Given the description of an element on the screen output the (x, y) to click on. 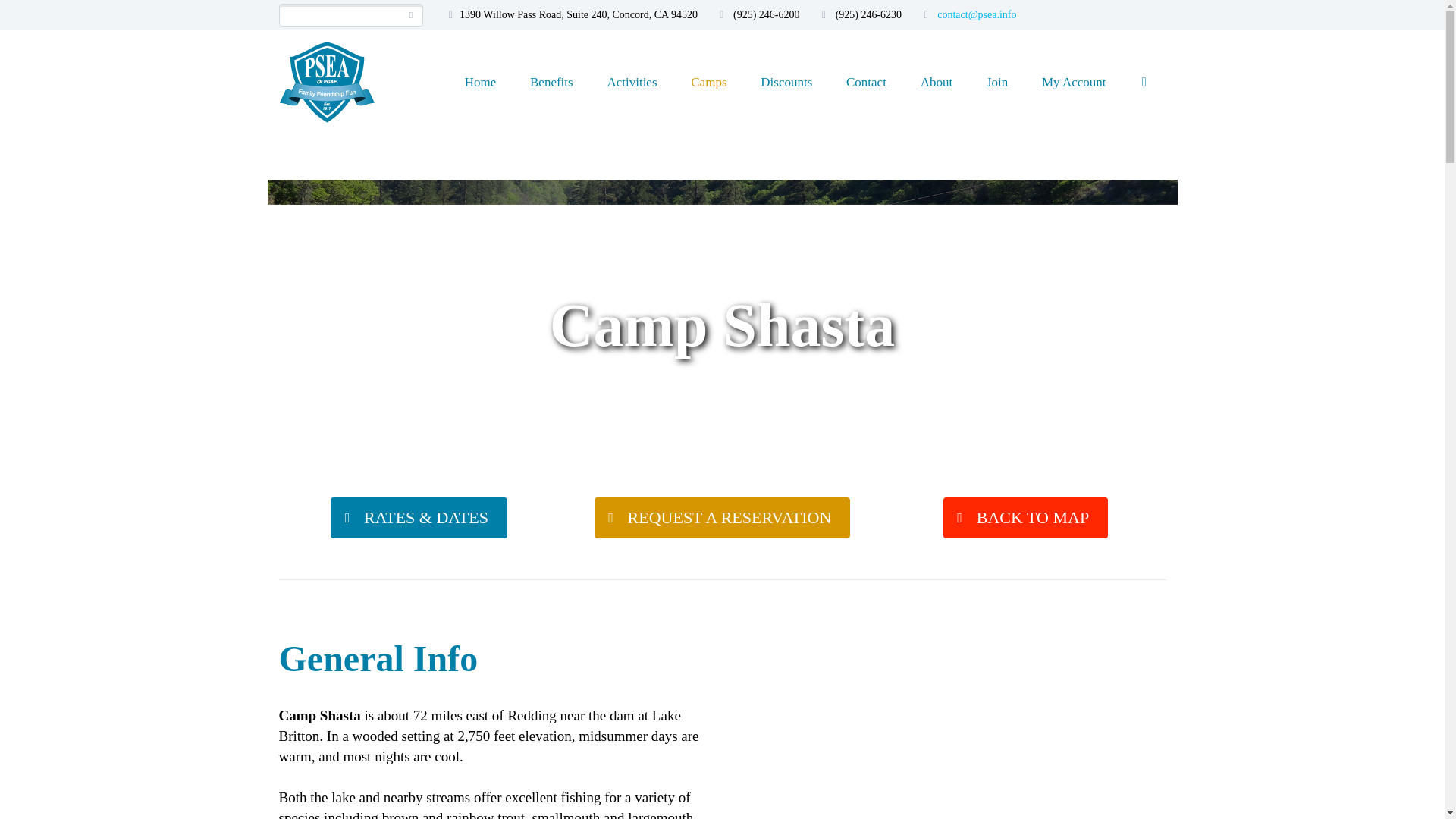
Camps (708, 82)
Contact (866, 82)
Search (411, 15)
Benefits (551, 82)
About (936, 82)
Discounts (786, 82)
Home (480, 82)
Activities (631, 82)
